Given the description of an element on the screen output the (x, y) to click on. 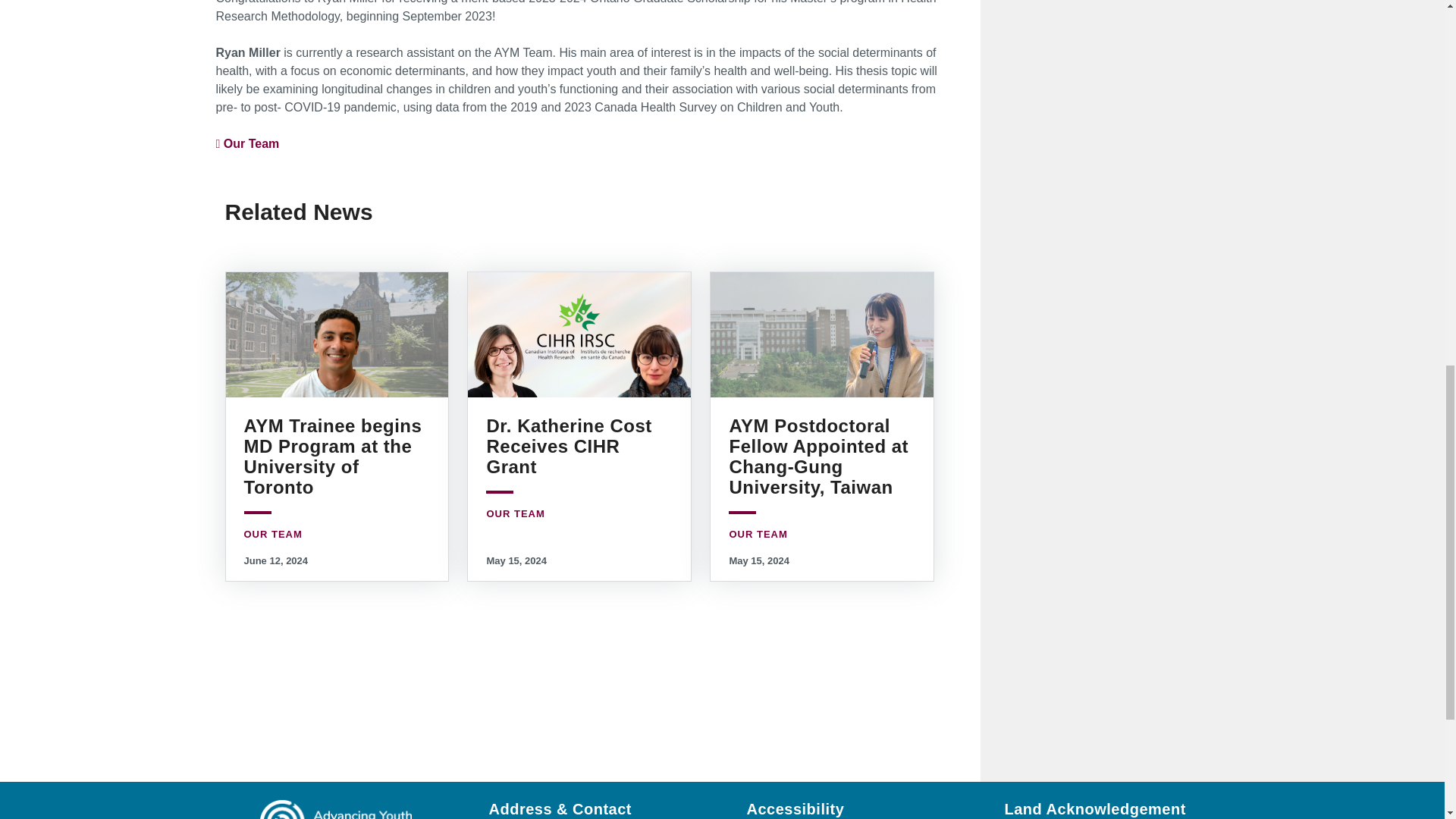
Dr. Katherine Cost Receives CIHR Grant (568, 445)
AYM Trainee begins MD Program at the University of Toronto (333, 456)
